Given the description of an element on the screen output the (x, y) to click on. 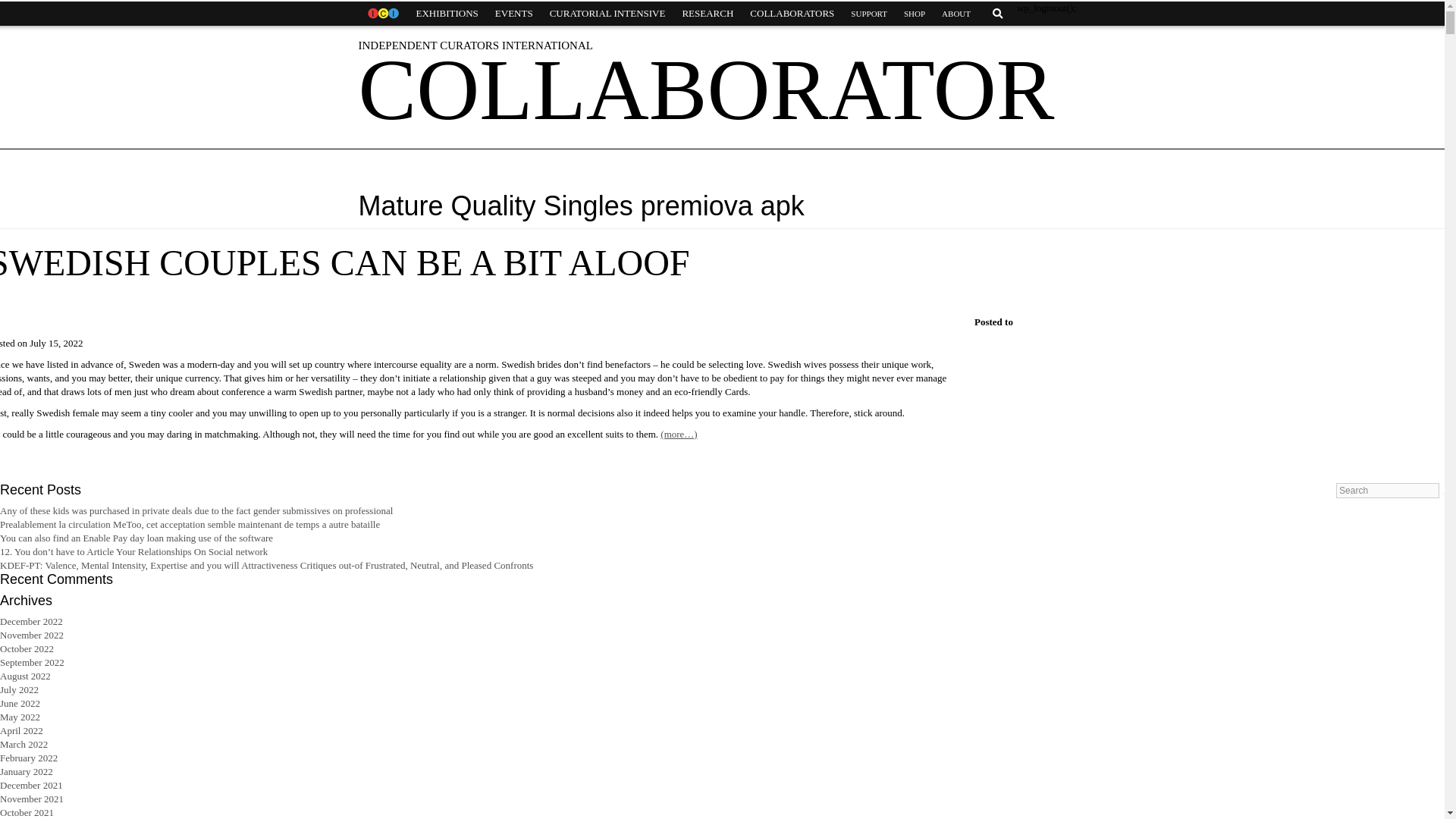
CURATORIAL INTENSIVE (607, 13)
EVENTS (513, 13)
COLLABORATORS (792, 13)
HOME (382, 13)
EXHIBITIONS (446, 13)
RESEARCH (706, 13)
